Given the description of an element on the screen output the (x, y) to click on. 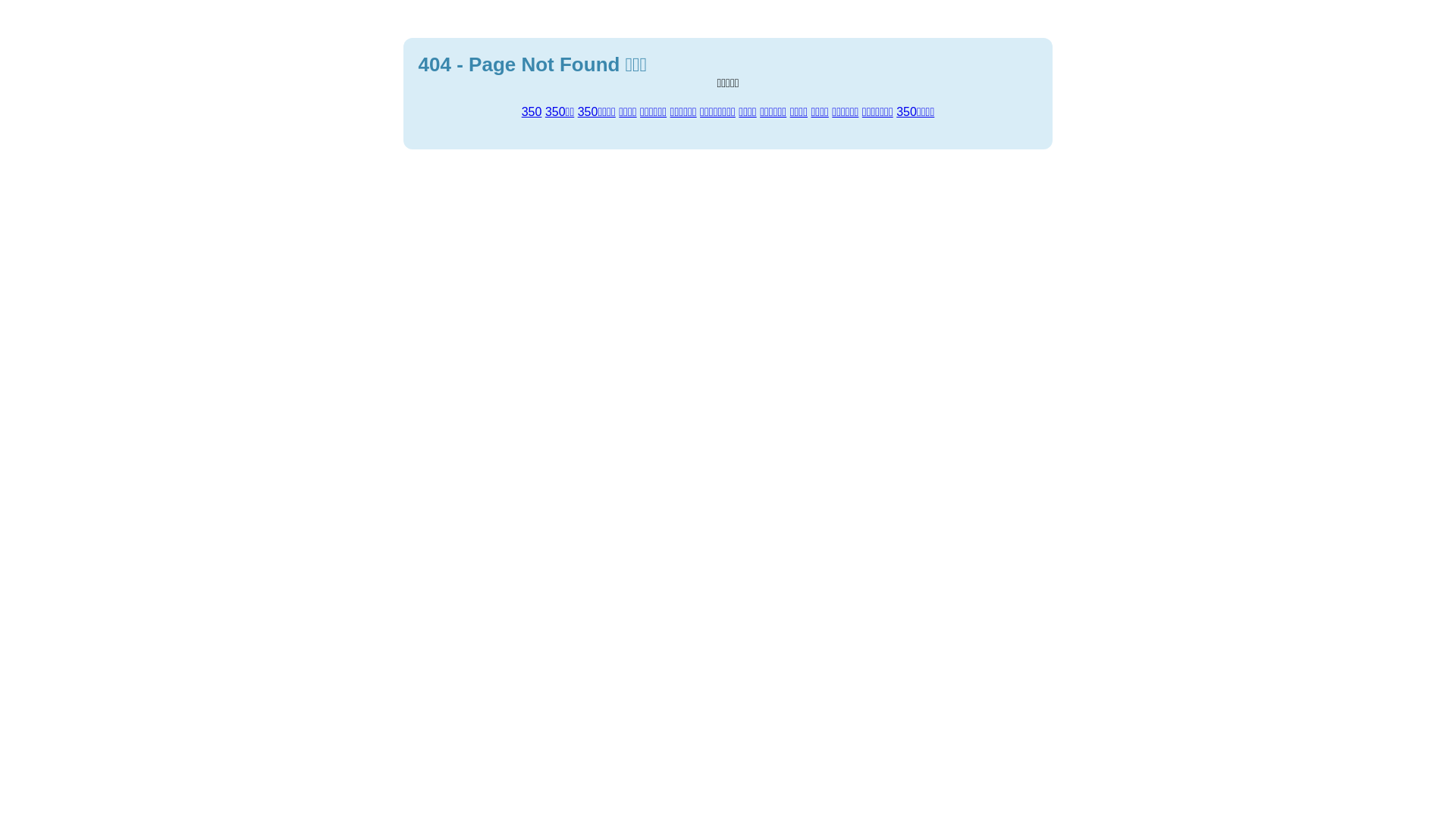
350 Element type: text (531, 111)
